Given the description of an element on the screen output the (x, y) to click on. 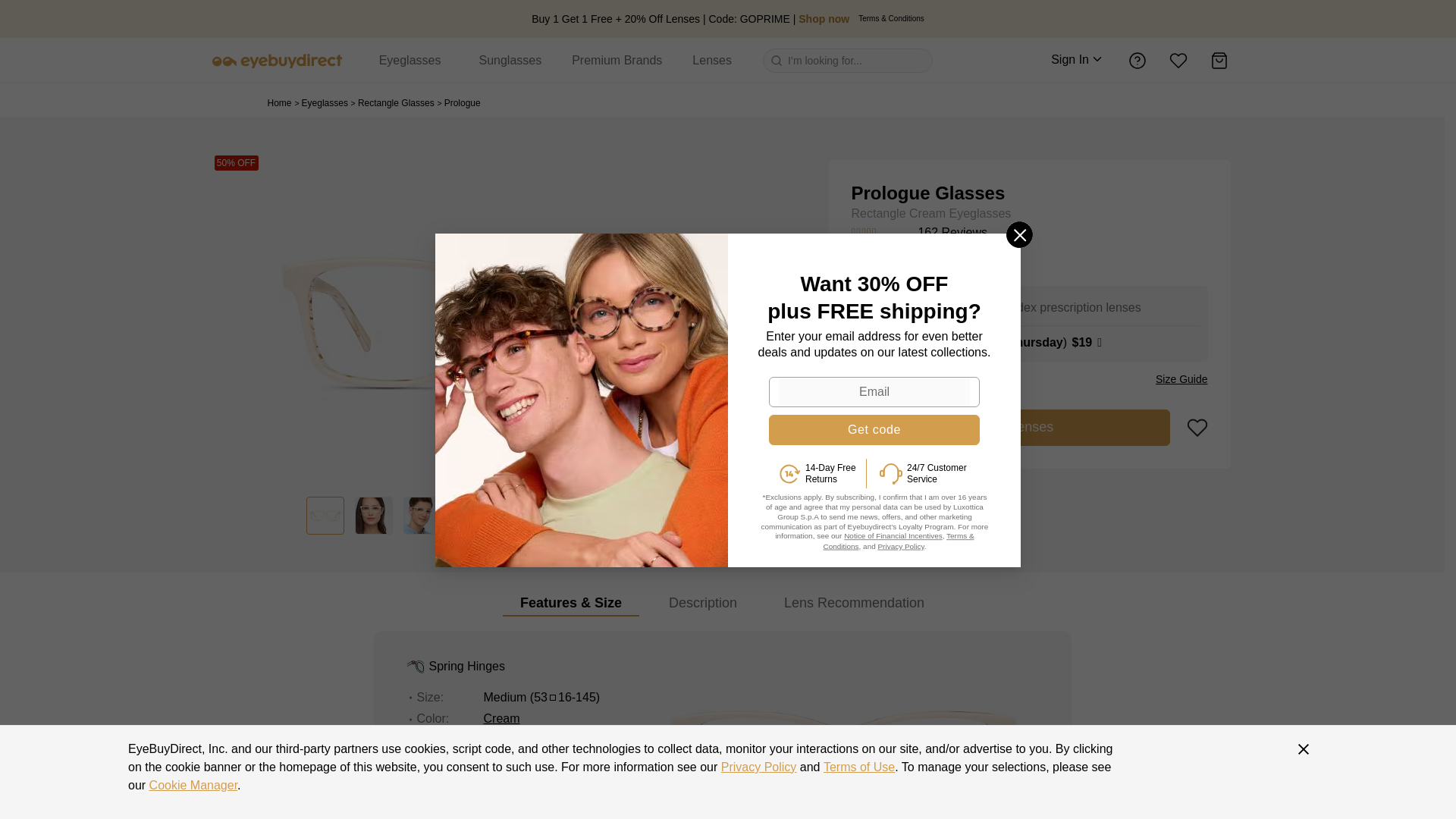
Shop now (822, 19)
